Given the description of an element on the screen output the (x, y) to click on. 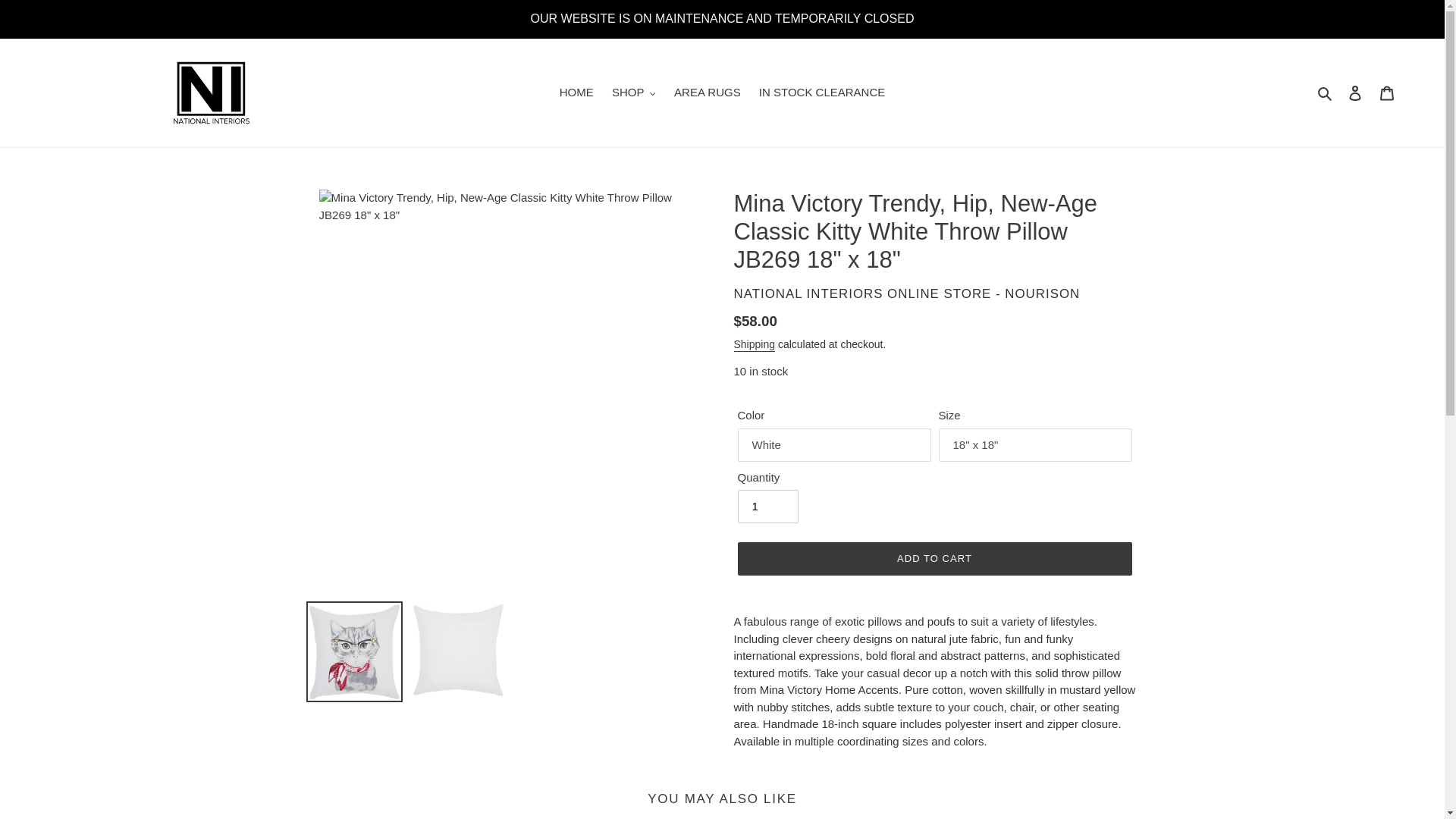
OUR WEBSITE IS ON MAINTENANCE AND TEMPORARILY CLOSED (721, 18)
SHOP (633, 92)
1 (766, 506)
HOME (576, 92)
